Given the description of an element on the screen output the (x, y) to click on. 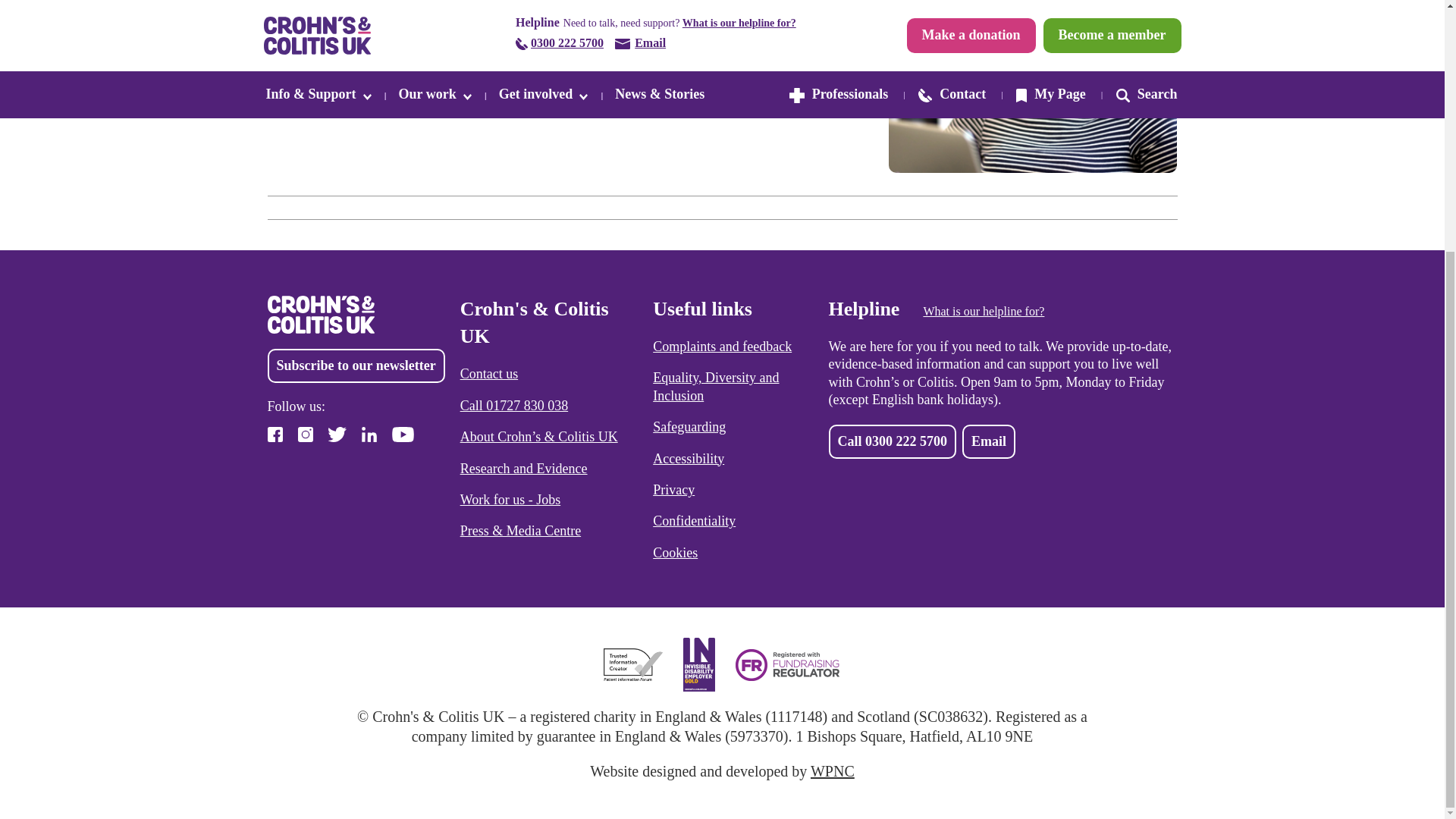
Home page (498, 9)
